Given the description of an element on the screen output the (x, y) to click on. 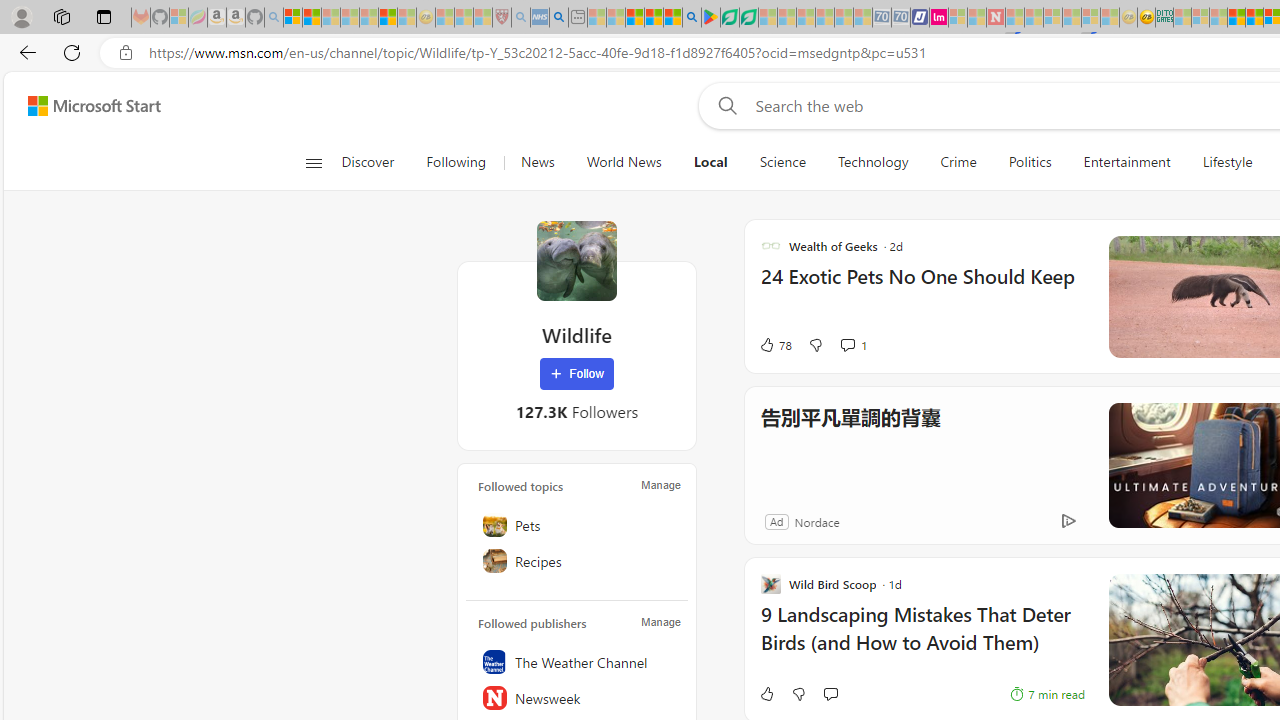
Recipes (577, 561)
Bluey: Let's Play! - Apps on Google Play (710, 17)
